Given the description of an element on the screen output the (x, y) to click on. 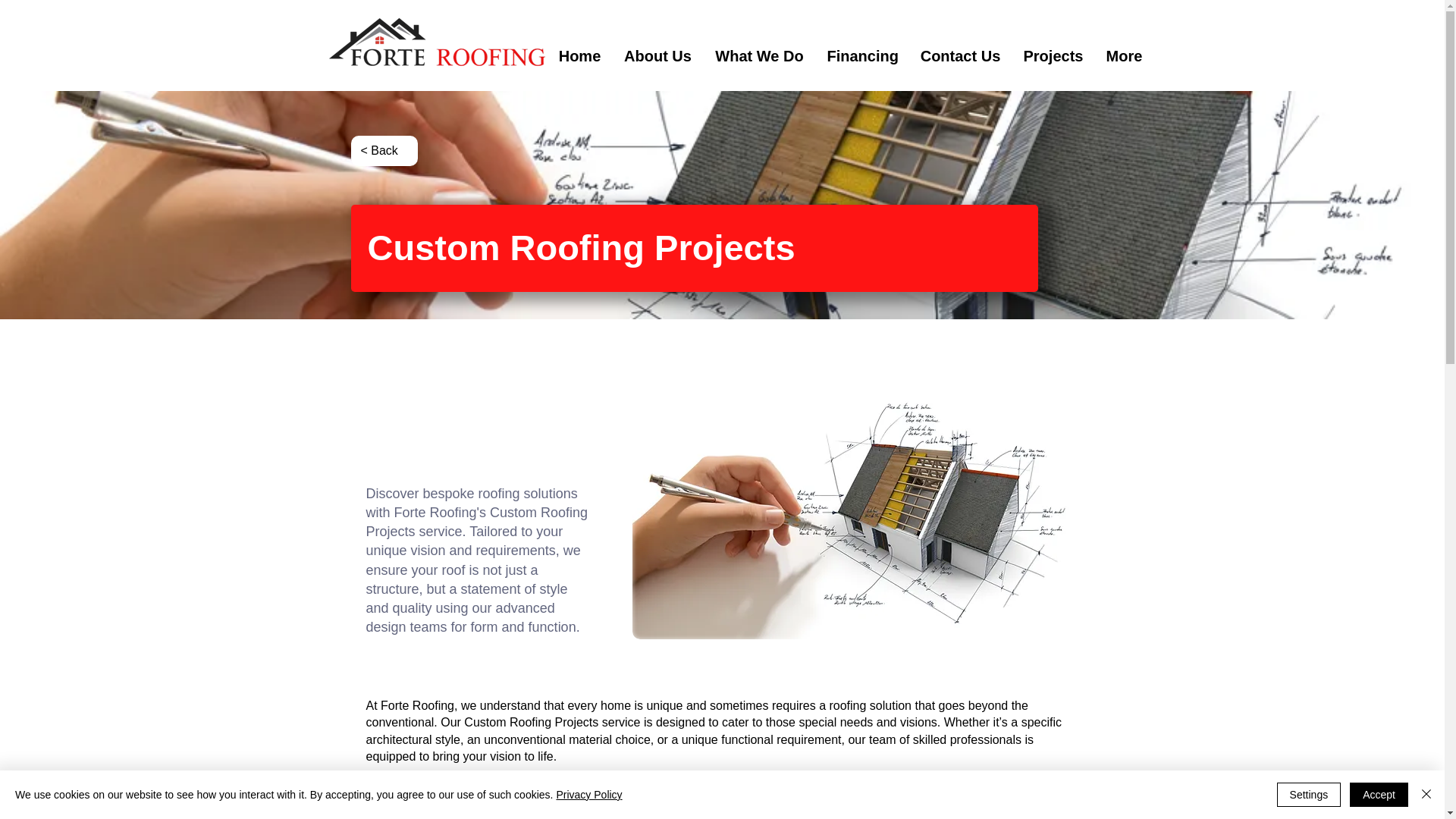
Contact Us (959, 55)
Projects (1052, 55)
Home (579, 55)
About Us (657, 55)
